Given the description of an element on the screen output the (x, y) to click on. 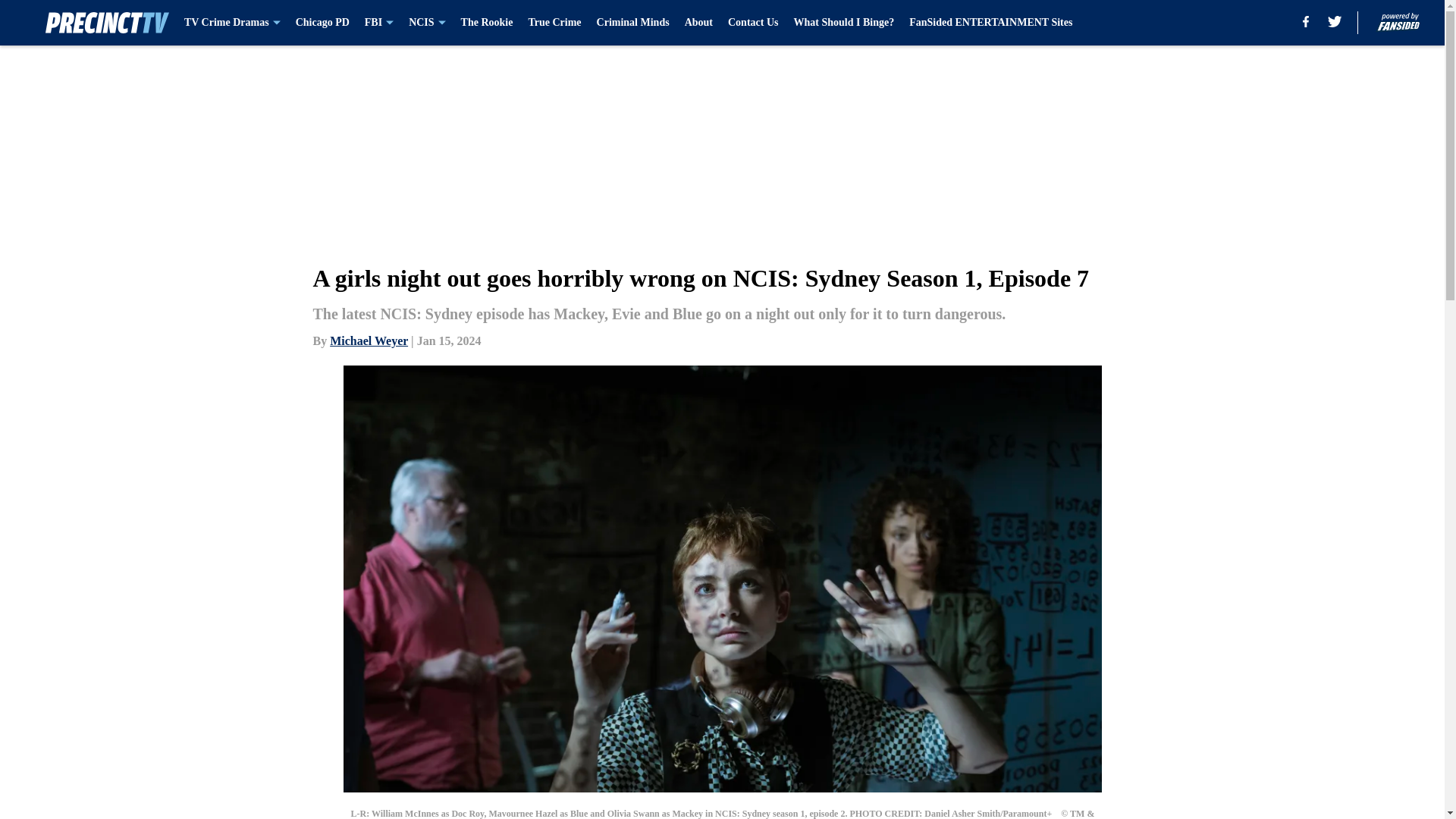
Contact Us (753, 22)
Michael Weyer (368, 340)
About (698, 22)
FanSided ENTERTAINMENT Sites (989, 22)
What Should I Binge? (843, 22)
Criminal Minds (632, 22)
True Crime (553, 22)
The Rookie (487, 22)
Chicago PD (322, 22)
